Given the description of an element on the screen output the (x, y) to click on. 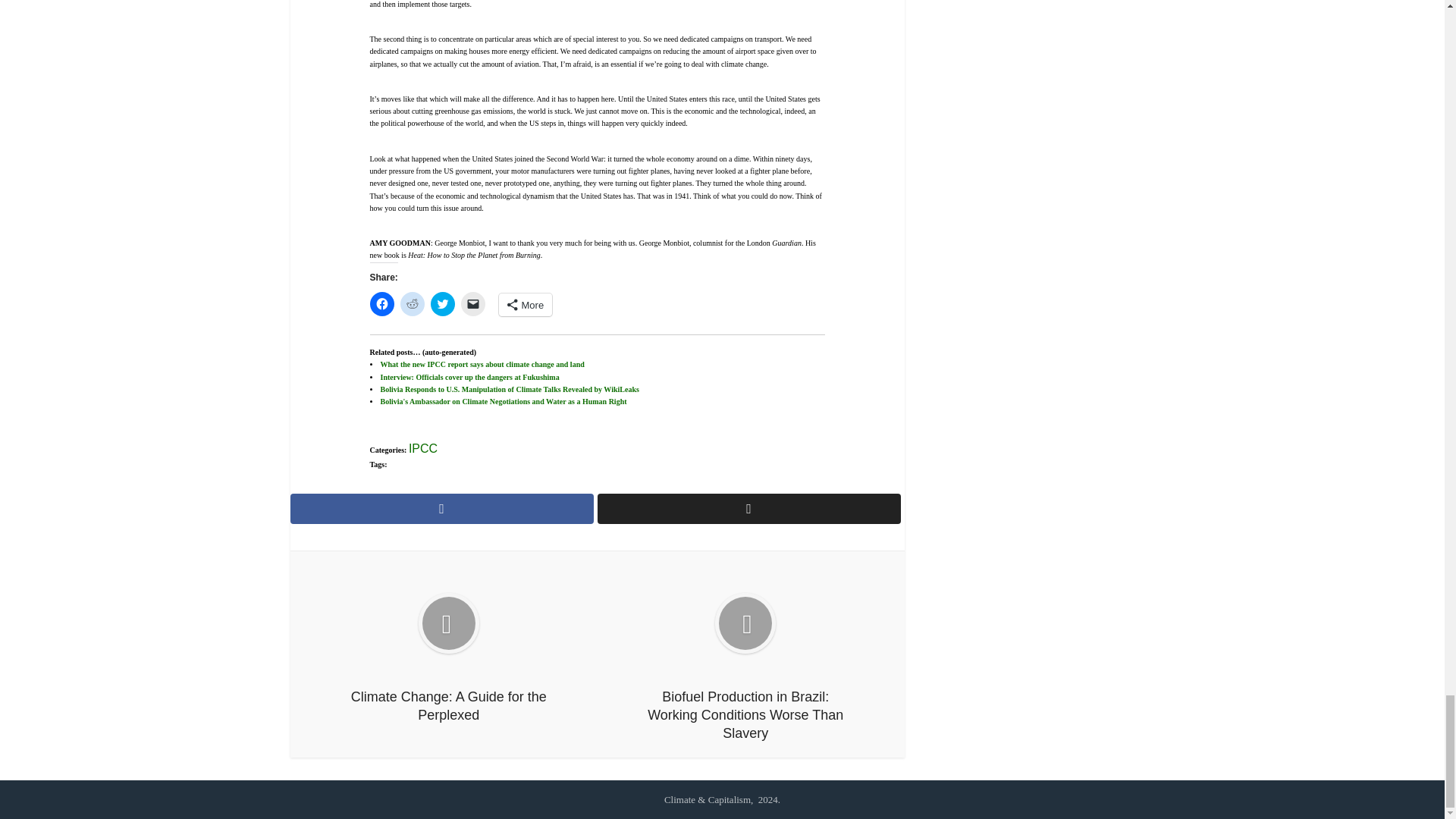
Interview: Officials cover up the dangers at Fukushima (469, 377)
IPCC (423, 448)
Click to share on Facebook (381, 303)
What the new IPCC report says about climate change and land (482, 364)
Click to share on Twitter (442, 303)
Click to email a link to a friend (472, 303)
More (526, 304)
Click to share on Reddit (412, 303)
Interview: Officials cover up the dangers at Fukushima (469, 377)
What the new IPCC report says about climate change and land (482, 364)
